Given the description of an element on the screen output the (x, y) to click on. 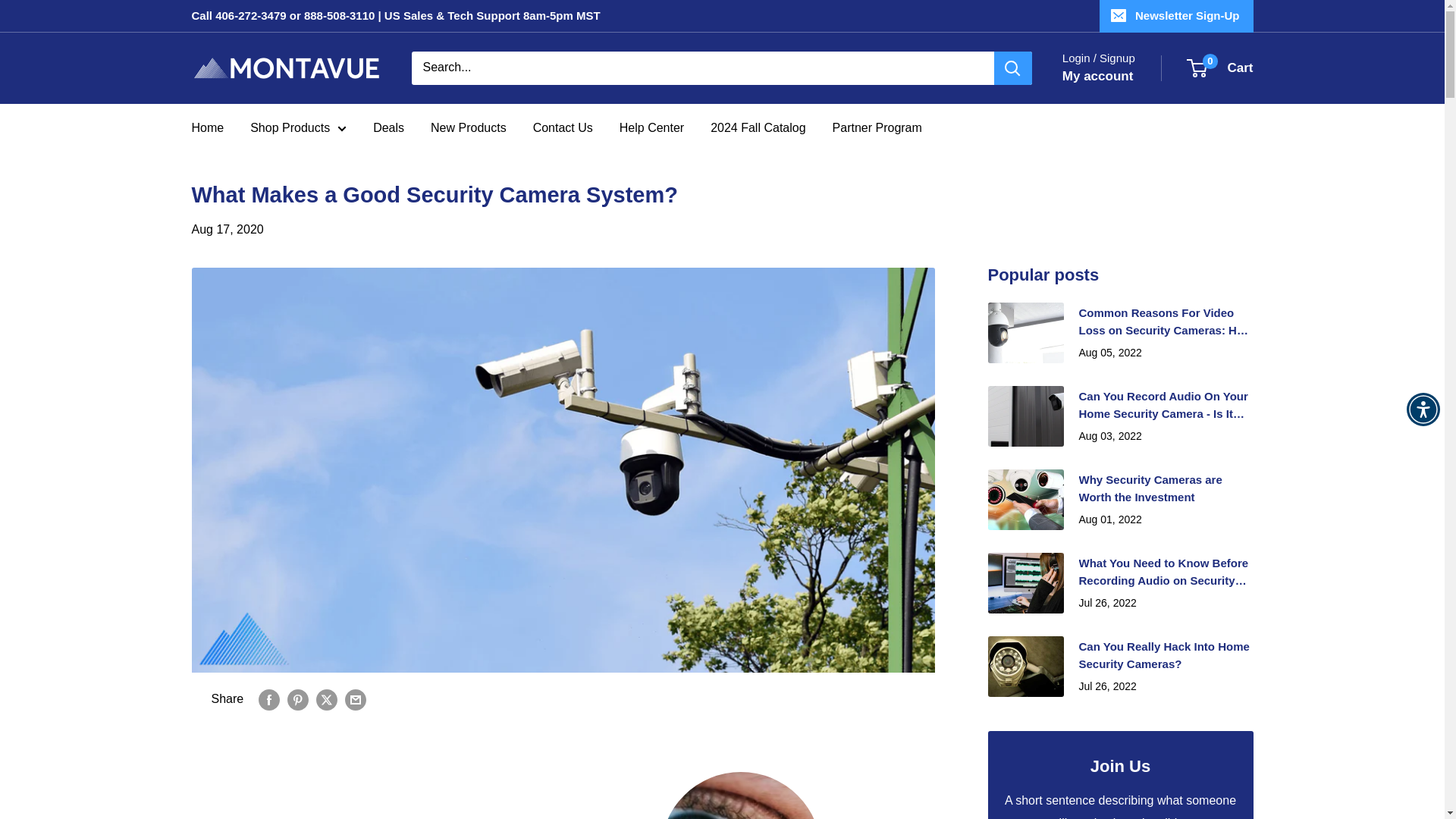
Accessibility Menu (1422, 409)
Newsletter Sign-Up (1176, 15)
